Given the description of an element on the screen output the (x, y) to click on. 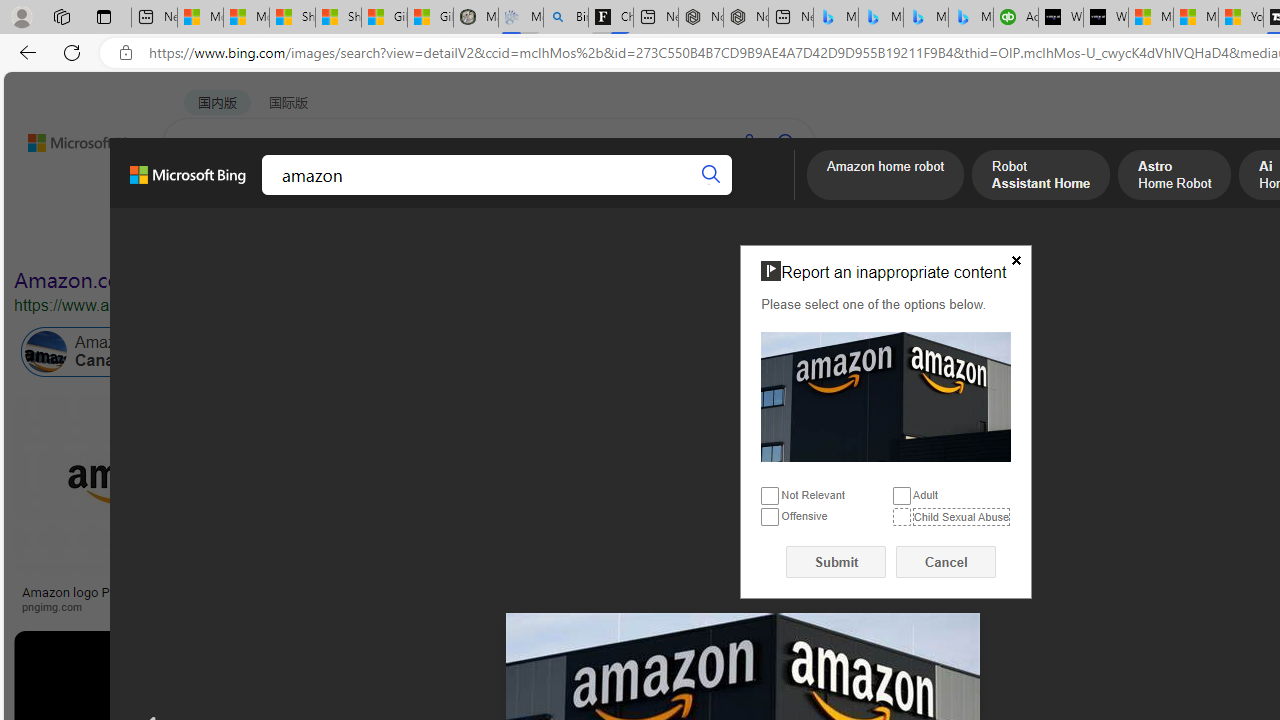
DICT (630, 195)
Listen: What's next for Amazon? (710, 592)
Not Relevant (770, 496)
Amazon.com. Spend less. Smile more. (195, 280)
Amazon Kids (464, 351)
License (664, 237)
Report an inappropriate content (886, 396)
VIDEOS (458, 195)
MAPS (698, 195)
